Given the description of an element on the screen output the (x, y) to click on. 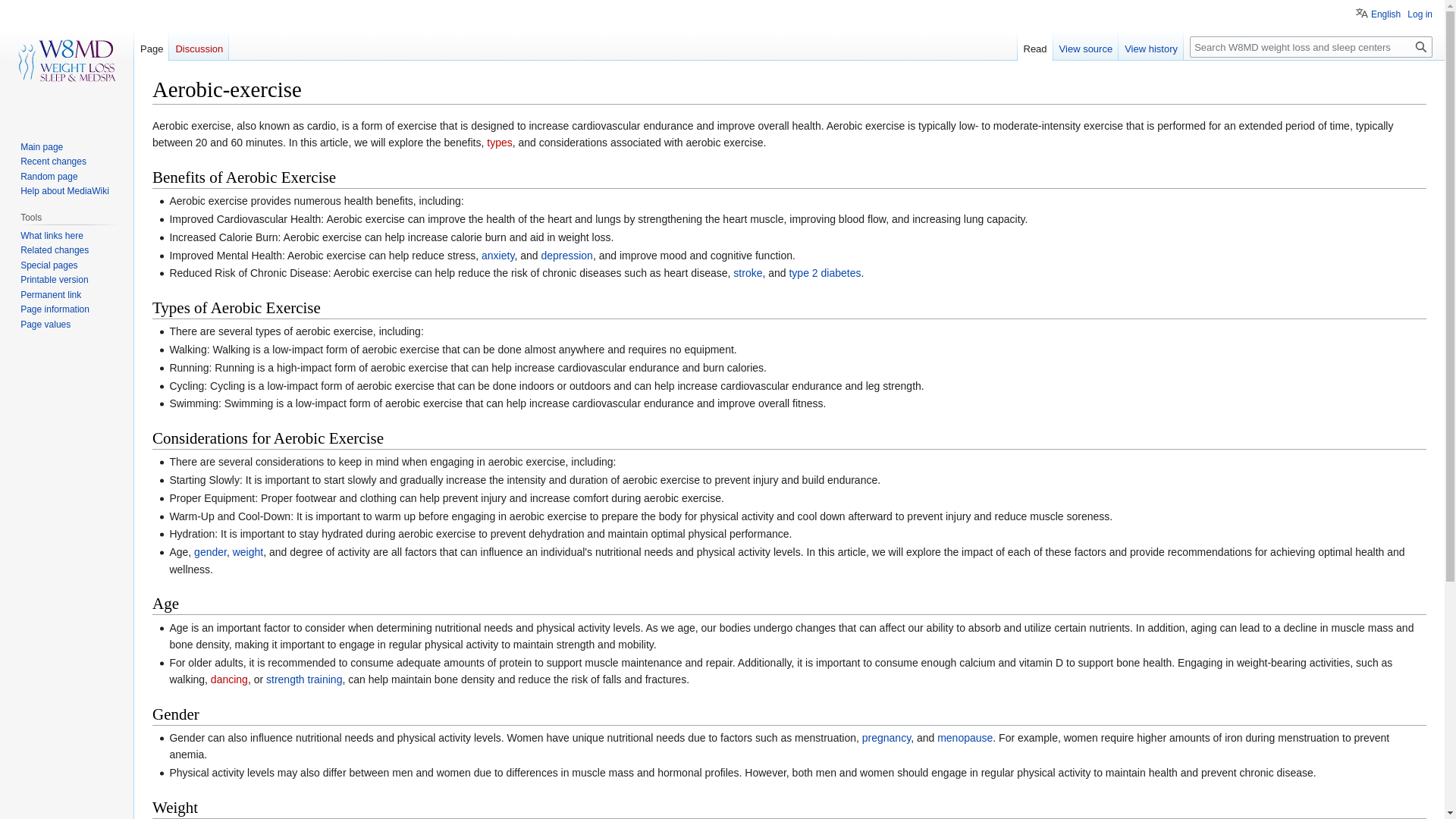
Log in (1419, 14)
Type 2 diabetes (824, 272)
Recent changes (52, 161)
Weight (247, 551)
Page (150, 45)
menopause (964, 737)
Random page (48, 176)
Go (1420, 46)
pregnancy (886, 737)
Stroke (747, 272)
